Given the description of an element on the screen output the (x, y) to click on. 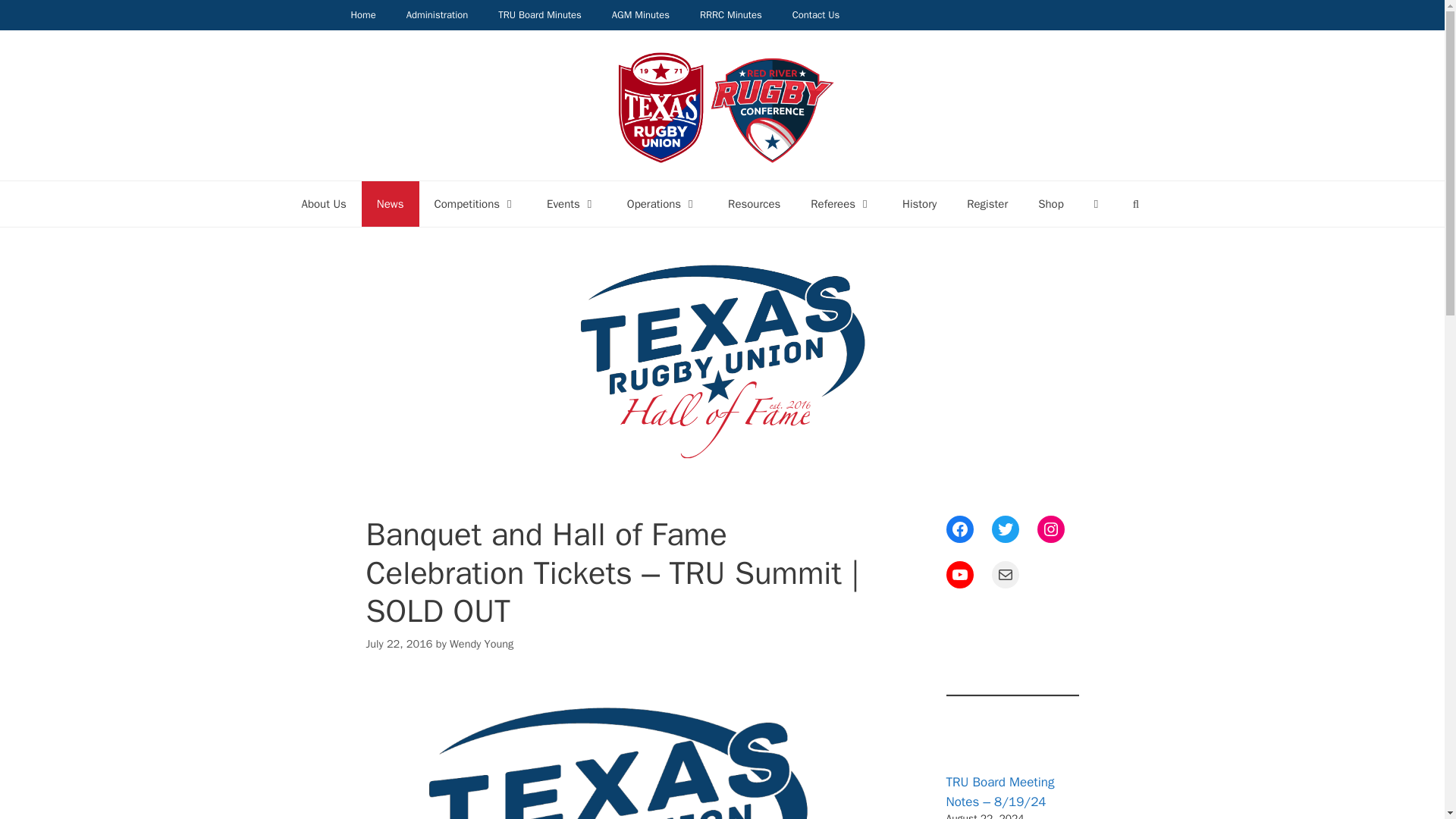
RRRC Minutes (730, 15)
Events (571, 203)
News (390, 203)
About Us (323, 203)
Shop (1050, 203)
Register (987, 203)
View all posts by Wendy Young (481, 643)
Competitions (475, 203)
AGM Minutes (640, 15)
Home (362, 15)
